Given the description of an element on the screen output the (x, y) to click on. 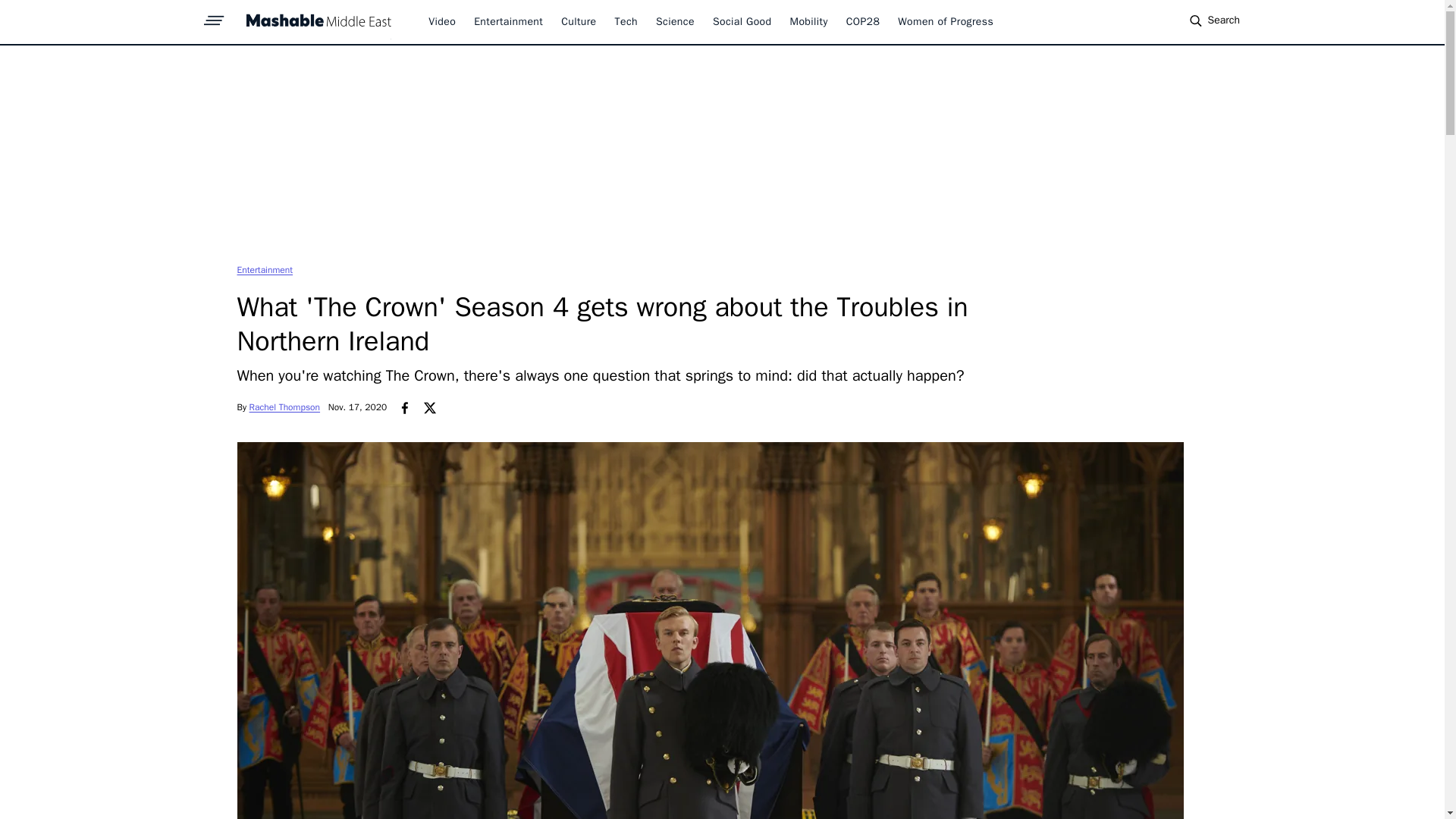
Tech (625, 21)
sprite-hamburger (213, 16)
Video (441, 21)
Mobility (809, 21)
Entertainment (508, 21)
Social Good (742, 21)
Rachel Thompson (284, 407)
Entertainment (263, 269)
Culture (577, 21)
Entertainment (263, 269)
